Given the description of an element on the screen output the (x, y) to click on. 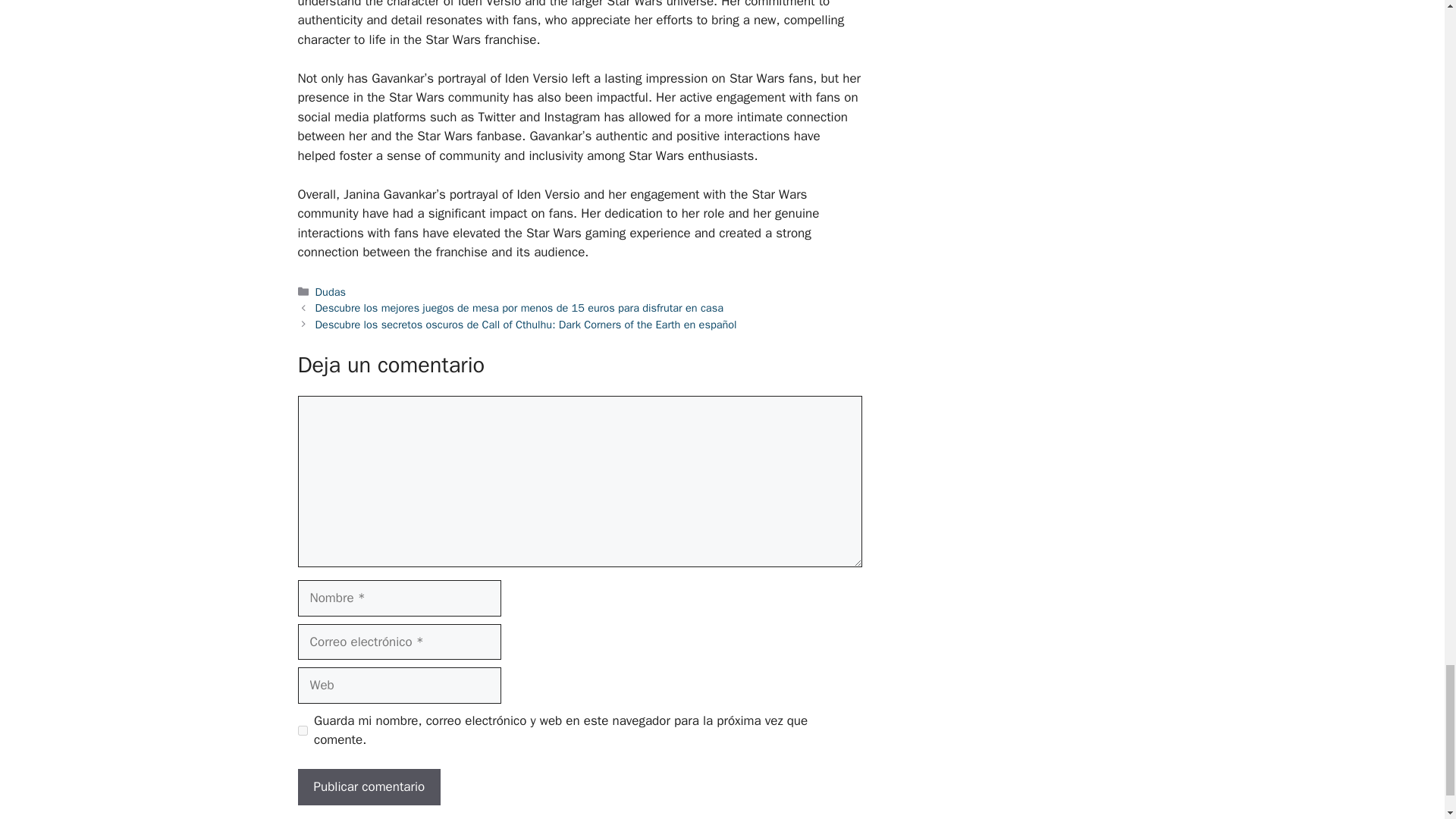
yes (302, 730)
Publicar comentario (369, 787)
Dudas (330, 291)
Publicar comentario (369, 787)
